Given the description of an element on the screen output the (x, y) to click on. 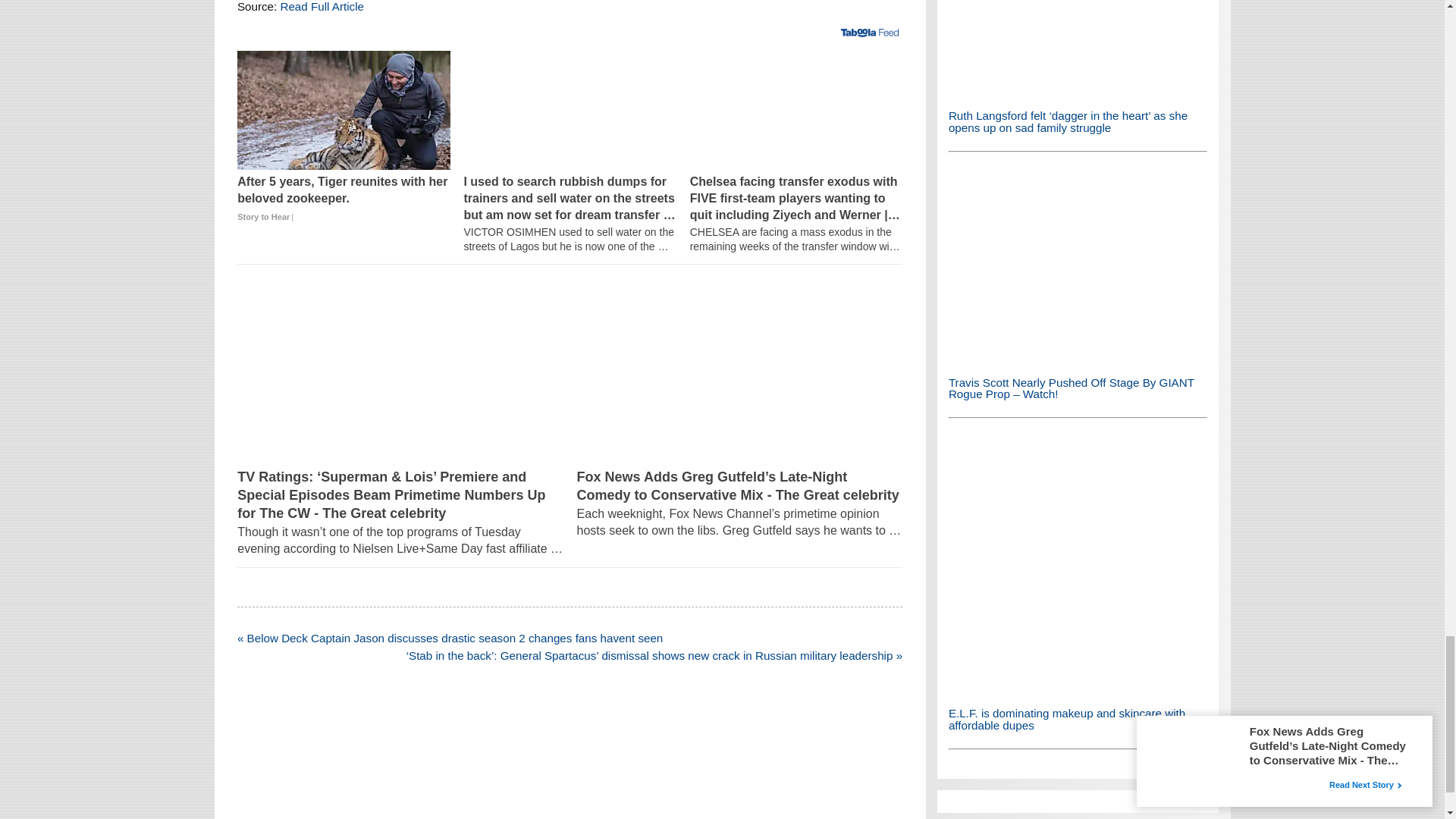
After 5 years, Tiger reunites with her beloved zookeeper. (343, 199)
After 5 years, Tiger reunites with her beloved zookeeper. (343, 110)
Read Full Article (321, 6)
